Given the description of an element on the screen output the (x, y) to click on. 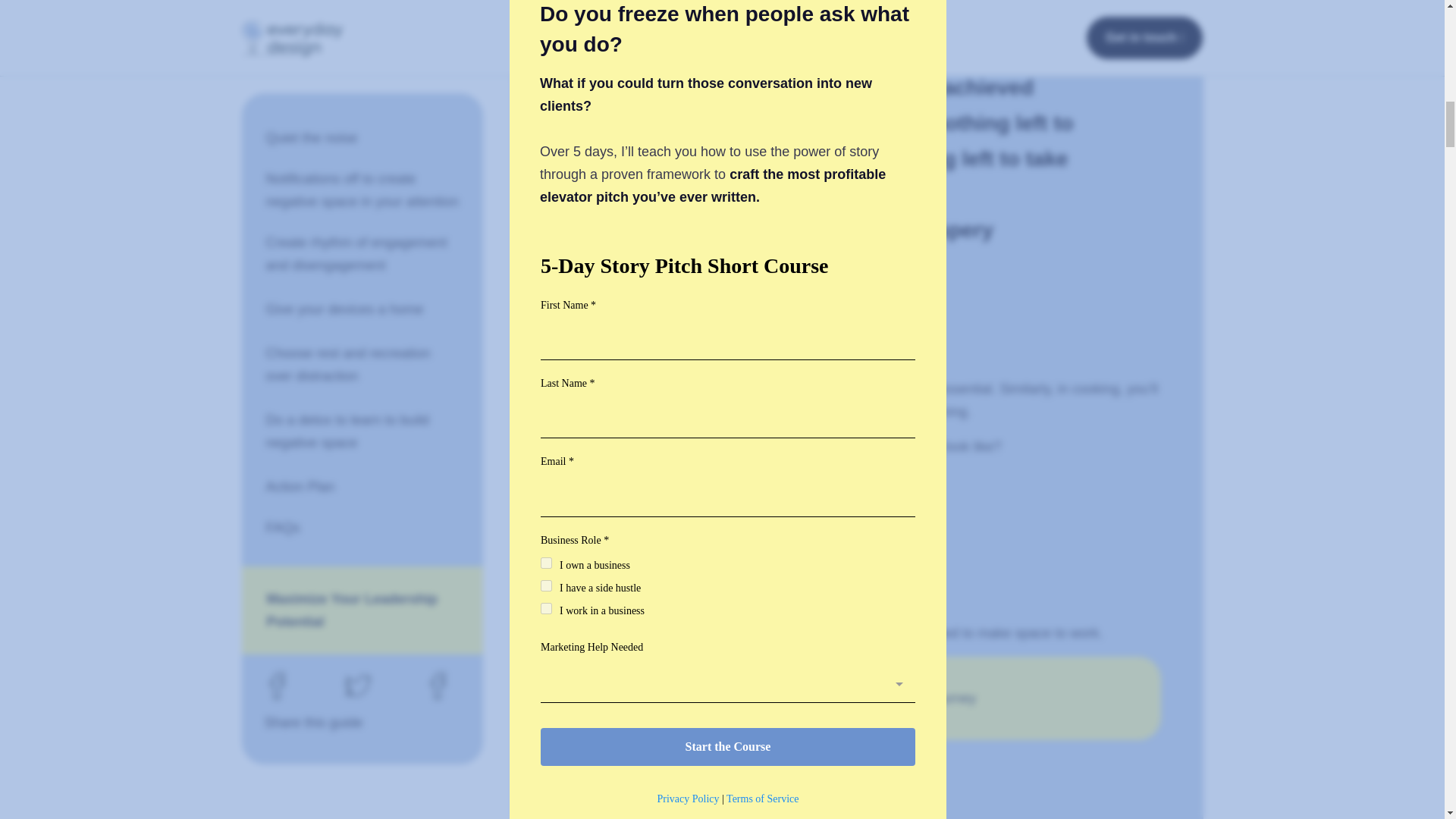
Maximize Your Leadership Potential (366, 188)
Do a detox to learn to build negative space (361, 19)
Begin Your Leadership Design Journey (858, 698)
Action Plan (361, 64)
FAQs (361, 105)
